Given the description of an element on the screen output the (x, y) to click on. 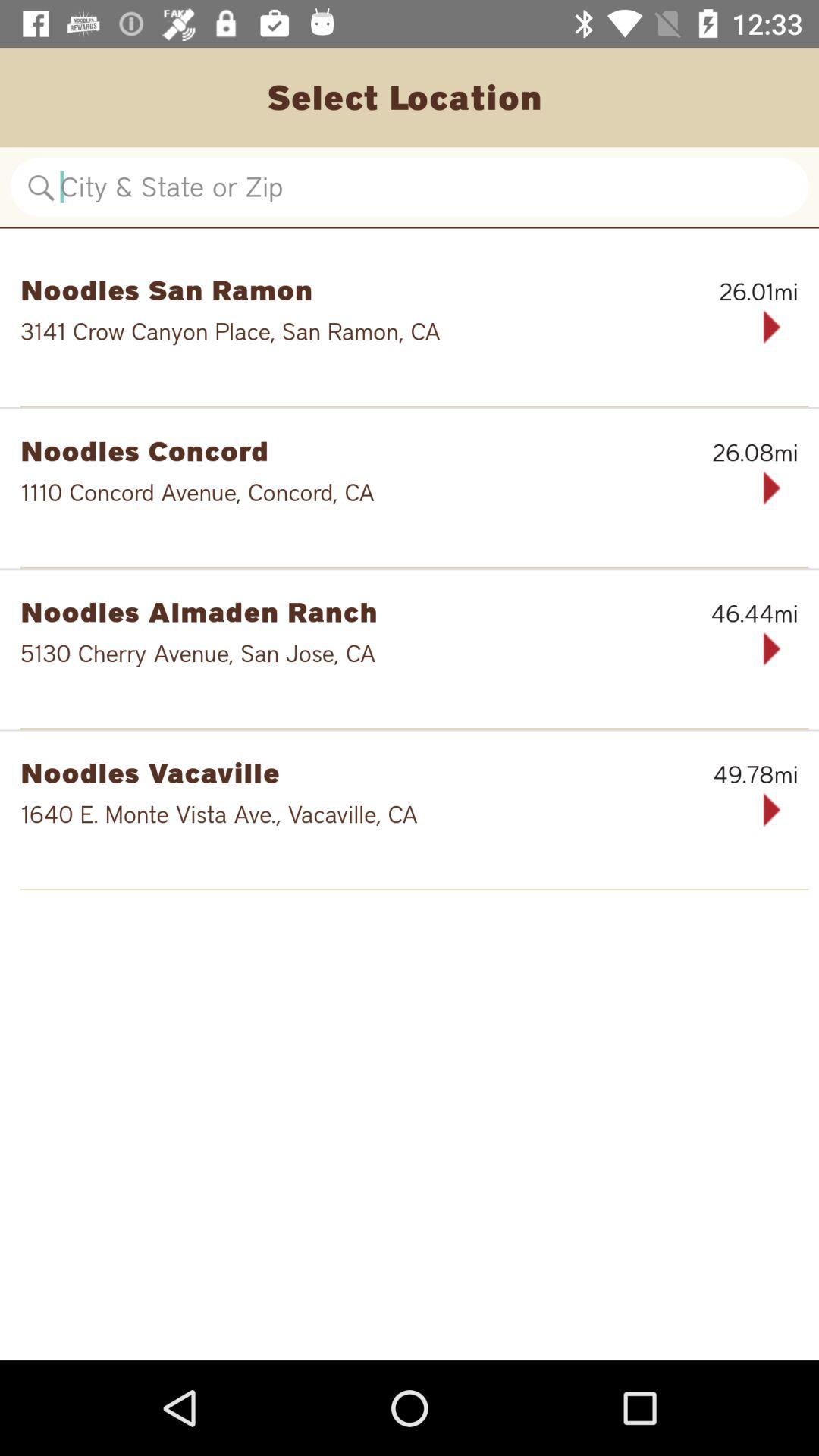
select the icon above noodles almaden ranch  item (414, 567)
